Given the description of an element on the screen output the (x, y) to click on. 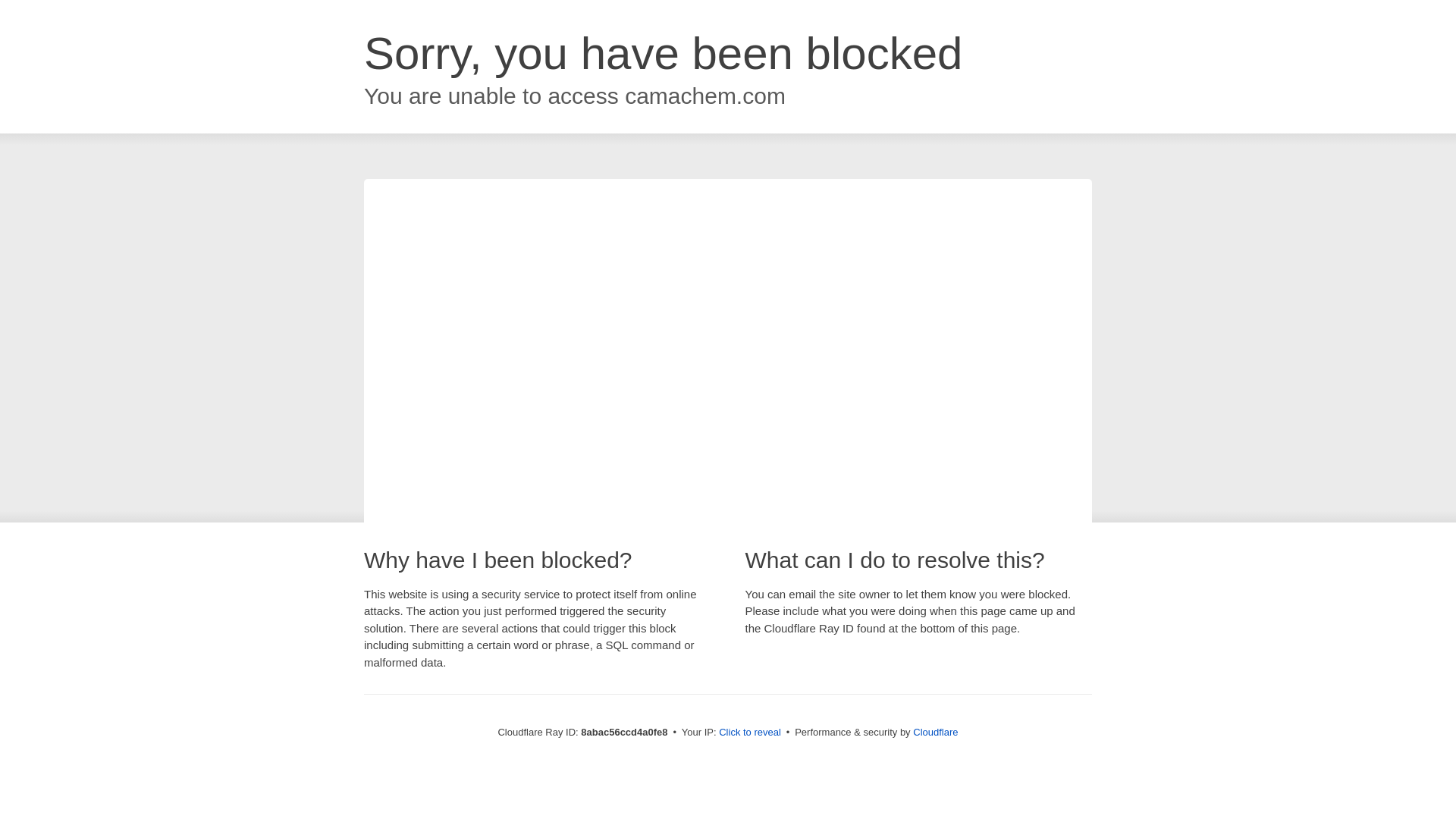
Click to reveal (749, 732)
Cloudflare (935, 731)
